Given the description of an element on the screen output the (x, y) to click on. 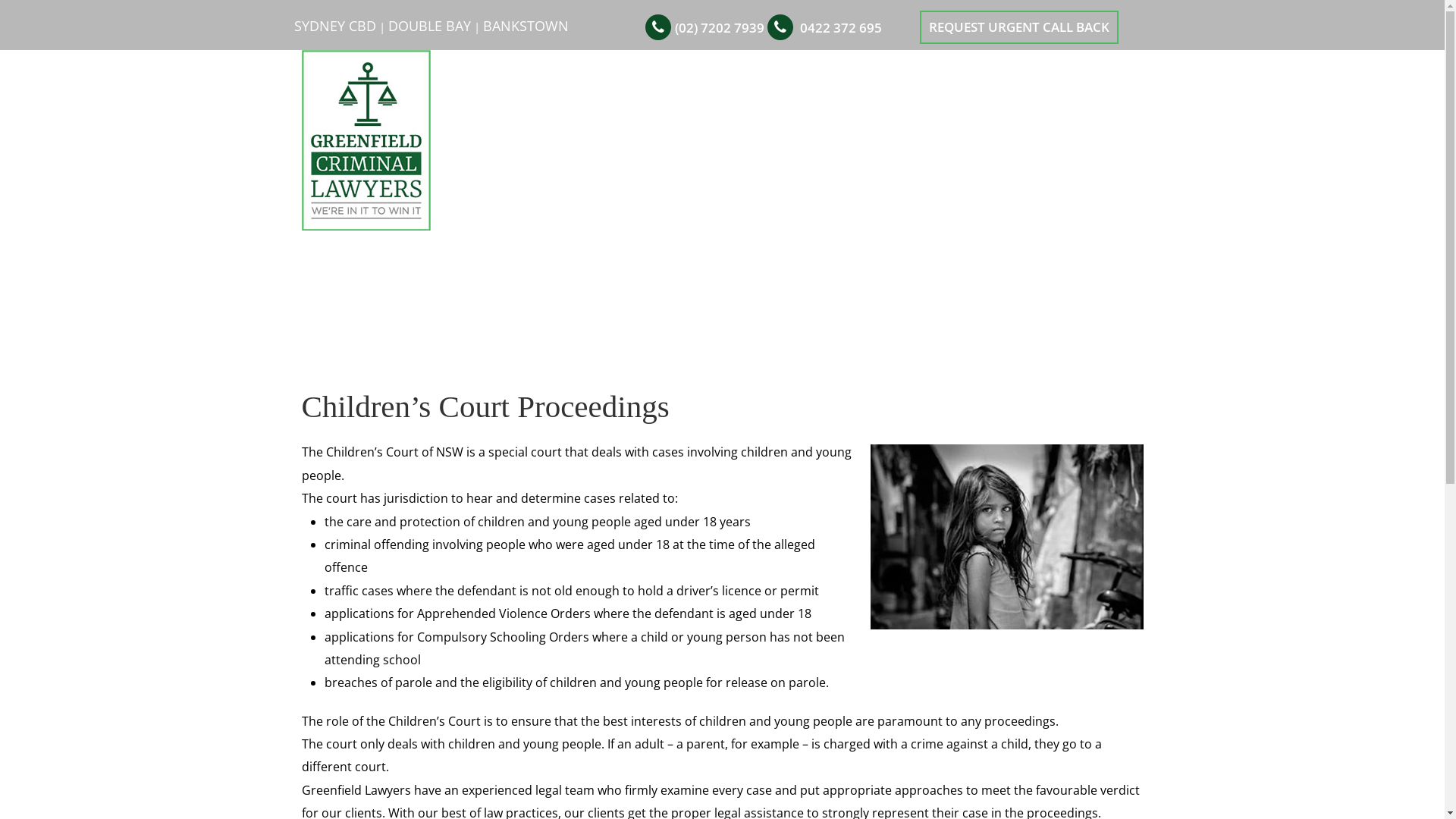
(02) 7202 7939 Element type: text (719, 27)
COMMUNITY INITIATIVES Element type: text (889, 154)
CRIMINAL OFFENCES Element type: text (939, 118)
BLOG Element type: text (999, 154)
CONTACT US Element type: text (1071, 154)
SYDNEY CBD | DOUBLE BAY | BANKSTOWN Element type: text (431, 26)
FIXED FEES PACKAGE Element type: text (552, 154)
CRIMINAL LAW RESOURCES Element type: text (713, 154)
OUR SERVICES Element type: text (818, 118)
WHY HIRE US Element type: text (575, 118)
ABOUT US Element type: text (494, 118)
TRAFFIC OFFENCES Element type: text (1076, 118)
0422 372 695 Element type: text (840, 27)
REQUEST URGENT CALL BACK Element type: text (1018, 26)
TOP COURT RESULTS Element type: text (694, 118)
